Given the description of an element on the screen output the (x, y) to click on. 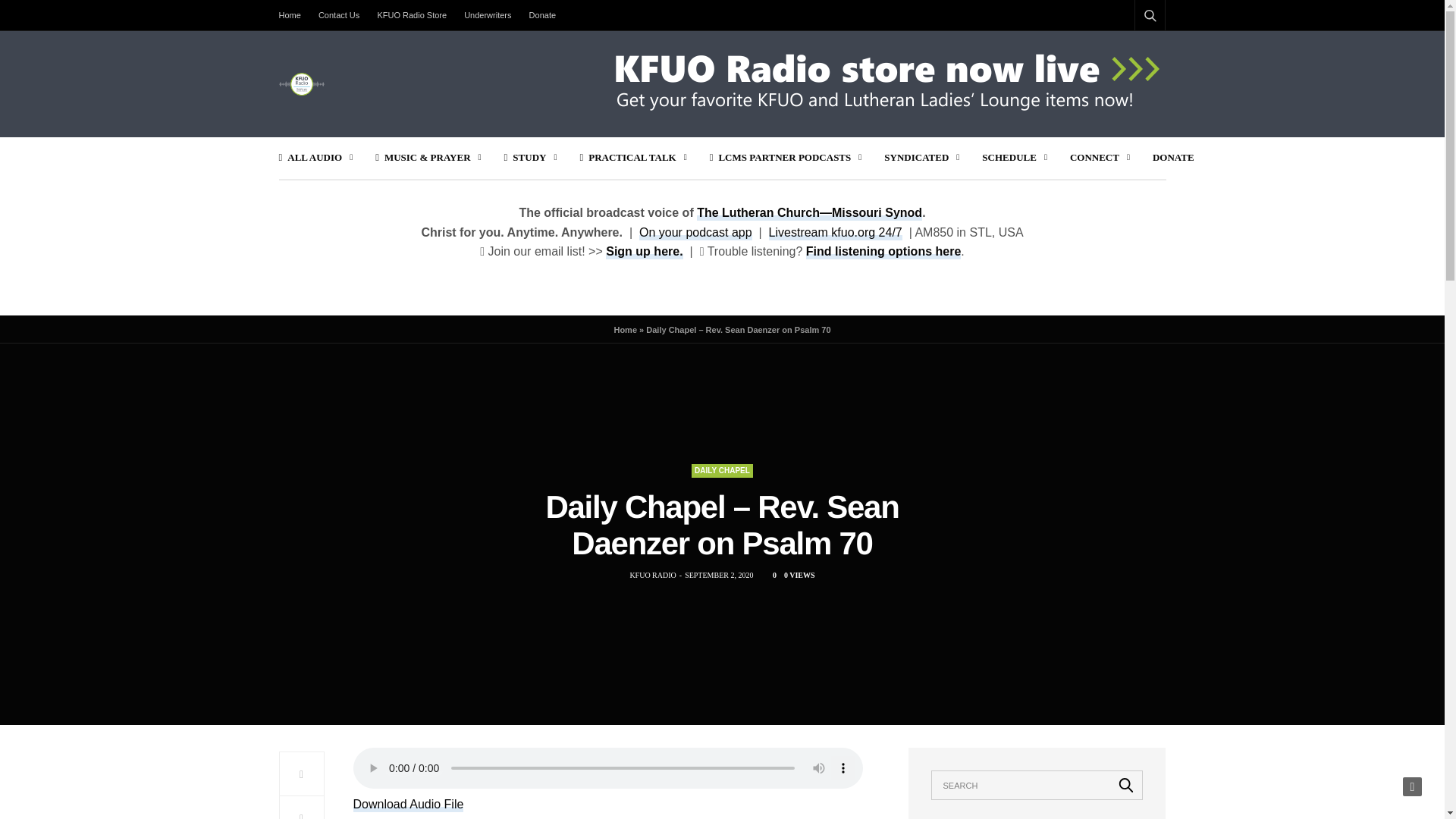
KFUO Radio Store (411, 15)
Search (1125, 784)
ALL AUDIO (316, 157)
Posts by KFUO Radio (651, 575)
Underwriters (487, 15)
Donate (542, 15)
Daily Chapel (721, 470)
Search (1129, 51)
Home (293, 15)
Contact Us (338, 15)
